Given the description of an element on the screen output the (x, y) to click on. 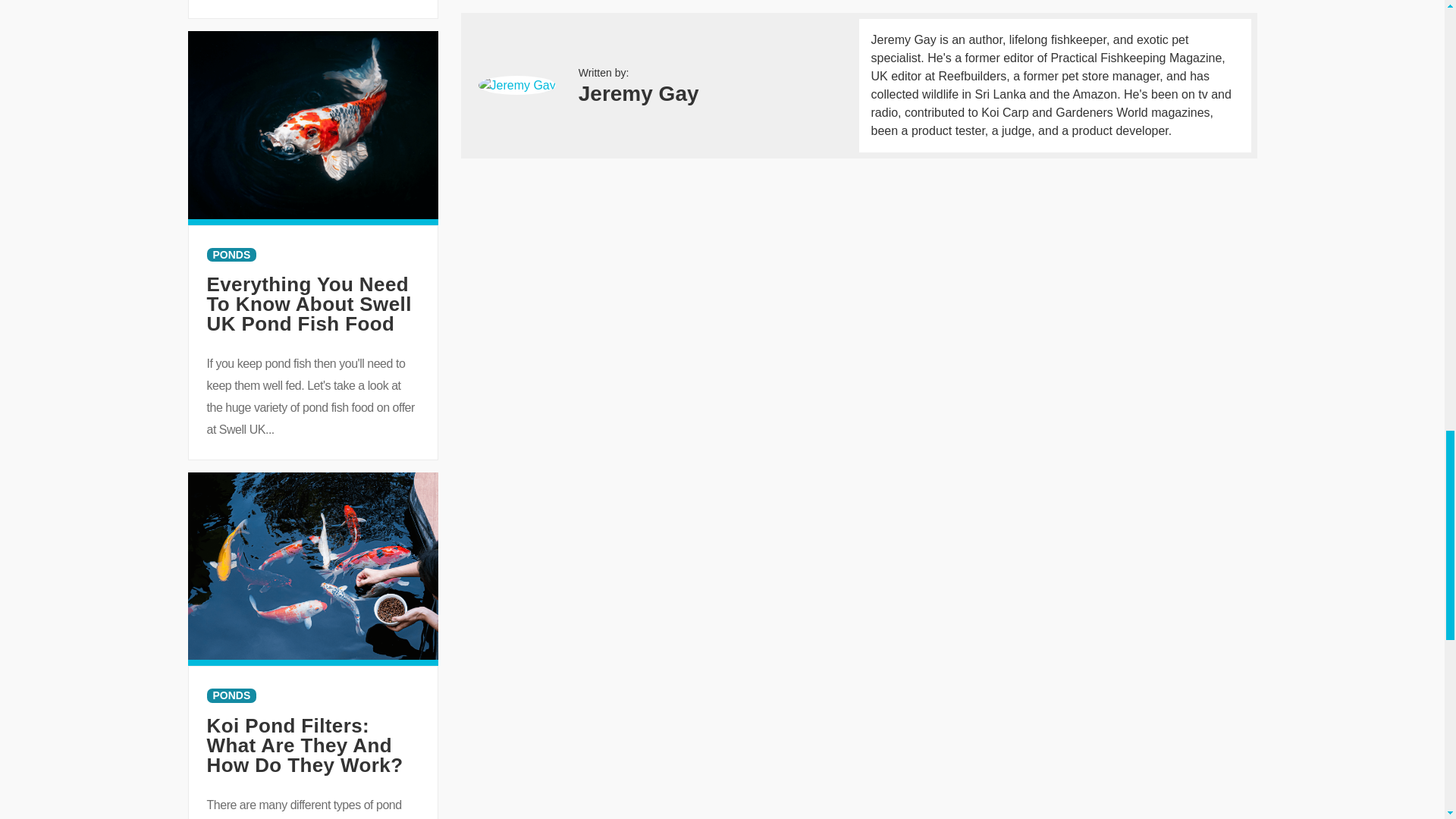
Koi Pond Filters: What Are They And How Do They Work? (312, 563)
Jeremy Gay (515, 85)
Everything You Need To Know About Swell UK Pond Fish Food (308, 303)
Koi Pond Filters: What Are They And How Do They Work? (304, 745)
Everything You Need To Know About Swell UK Pond Fish Food (312, 123)
